Given the description of an element on the screen output the (x, y) to click on. 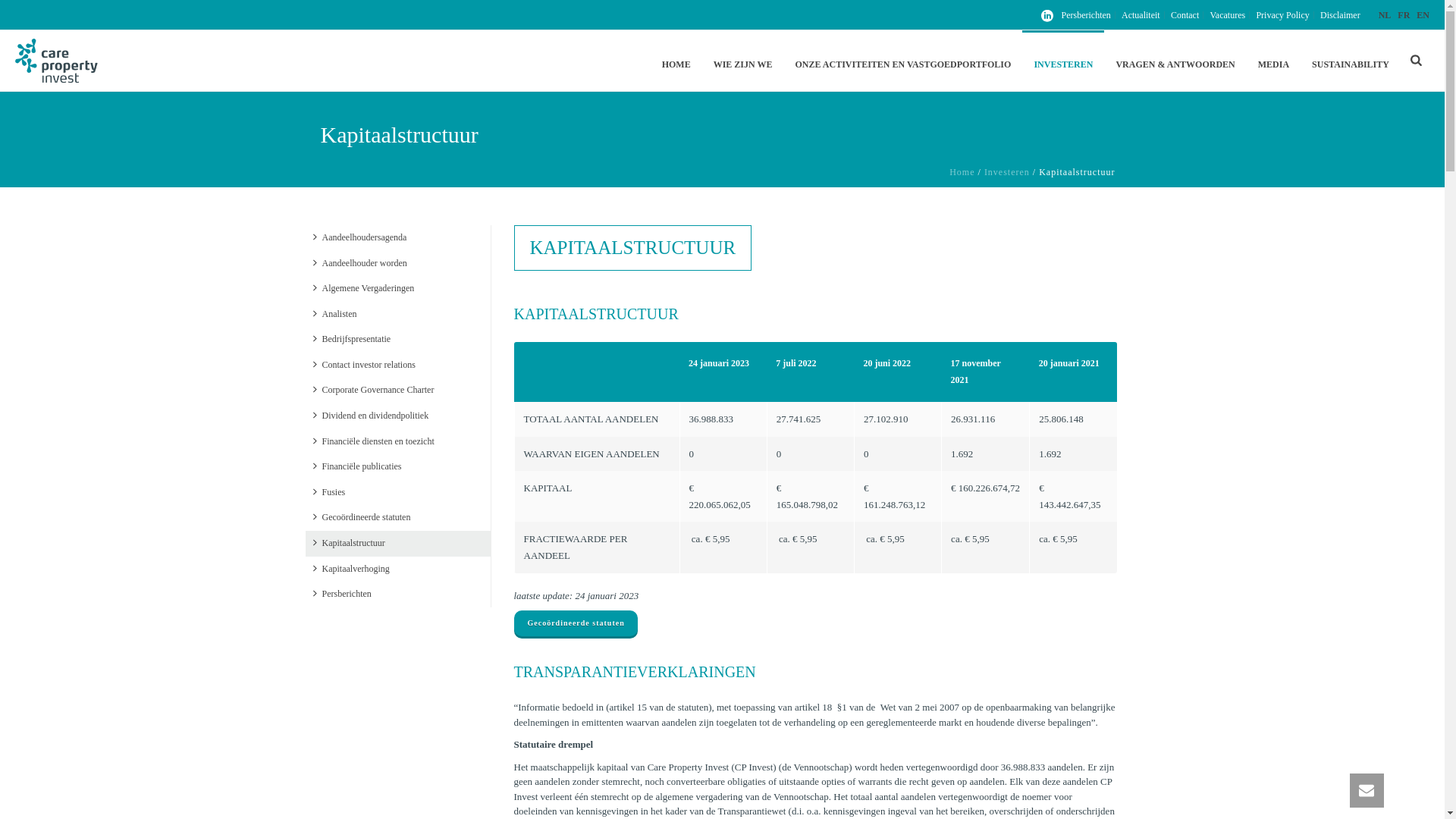
Vacatures Element type: text (1228, 14)
Fusies Element type: text (328, 492)
Construire dans le domaine des soins en toute confiance Element type: hover (57, 60)
VRAGEN & ANTWOORDEN Element type: text (1174, 60)
Actualiteit Element type: text (1140, 14)
HOME Element type: text (676, 60)
Persberichten Element type: text (1085, 14)
Contact investor relations Element type: text (363, 365)
Corporate Governance Charter Element type: text (372, 390)
Aandeelhouder worden Element type: text (359, 263)
ONZE ACTIVITEITEN EN VASTGOEDPORTFOLIO Element type: text (902, 60)
Bedrijfspresentatie Element type: text (351, 339)
Aandeelhoudersagenda Element type: text (359, 238)
Investeren Element type: text (1006, 171)
EN Element type: text (1422, 15)
Algemene Vergaderingen Element type: text (362, 288)
WIE ZIJN WE Element type: text (743, 60)
Analisten Element type: text (334, 314)
SUSTAINABILITY Element type: text (1350, 60)
Home Element type: text (961, 171)
Persberichten Element type: text (341, 594)
Privacy Policy Element type: text (1282, 14)
Disclaimer Element type: text (1340, 14)
NL Element type: text (1384, 15)
Kapitaalverhoging Element type: text (350, 569)
Contact Element type: text (1185, 14)
MEDIA Element type: text (1273, 60)
Kapitaalstructuur Element type: text (348, 543)
INVESTEREN Element type: text (1063, 60)
FR Element type: text (1403, 15)
Dividend en dividendpolitiek Element type: text (370, 416)
